Given the description of an element on the screen output the (x, y) to click on. 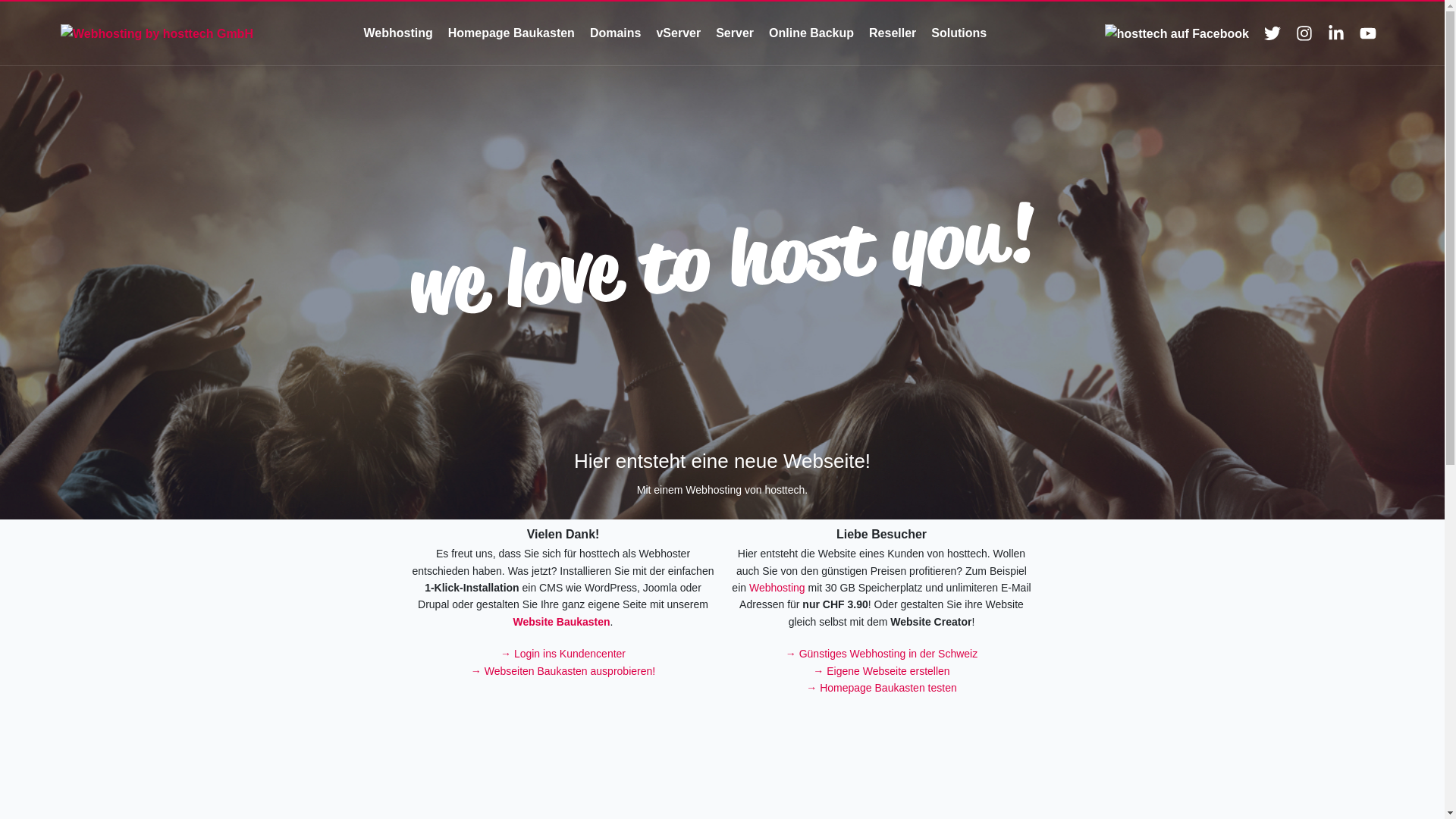
vServer Element type: text (677, 32)
Homepage Baukasten Element type: text (511, 32)
Server Element type: text (734, 32)
Domains Element type: text (615, 32)
Reseller Element type: text (892, 32)
Online Backup Element type: text (810, 32)
Webhosting Element type: text (777, 587)
Website Baukasten Element type: text (560, 621)
Solutions Element type: text (958, 32)
Webhosting Element type: text (397, 32)
